Given the description of an element on the screen output the (x, y) to click on. 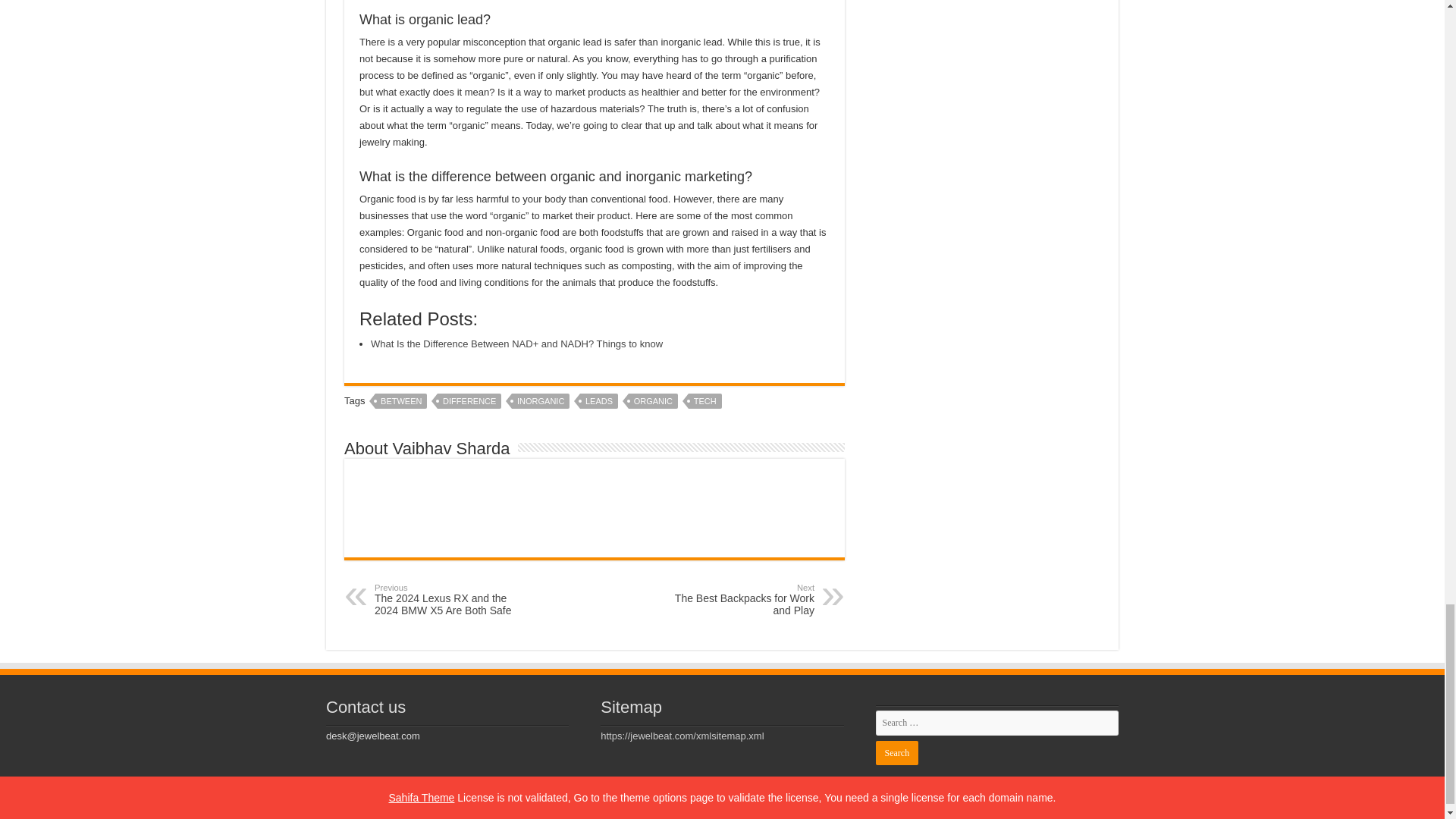
Search (896, 752)
Search (896, 752)
BETWEEN (400, 400)
